Given the description of an element on the screen output the (x, y) to click on. 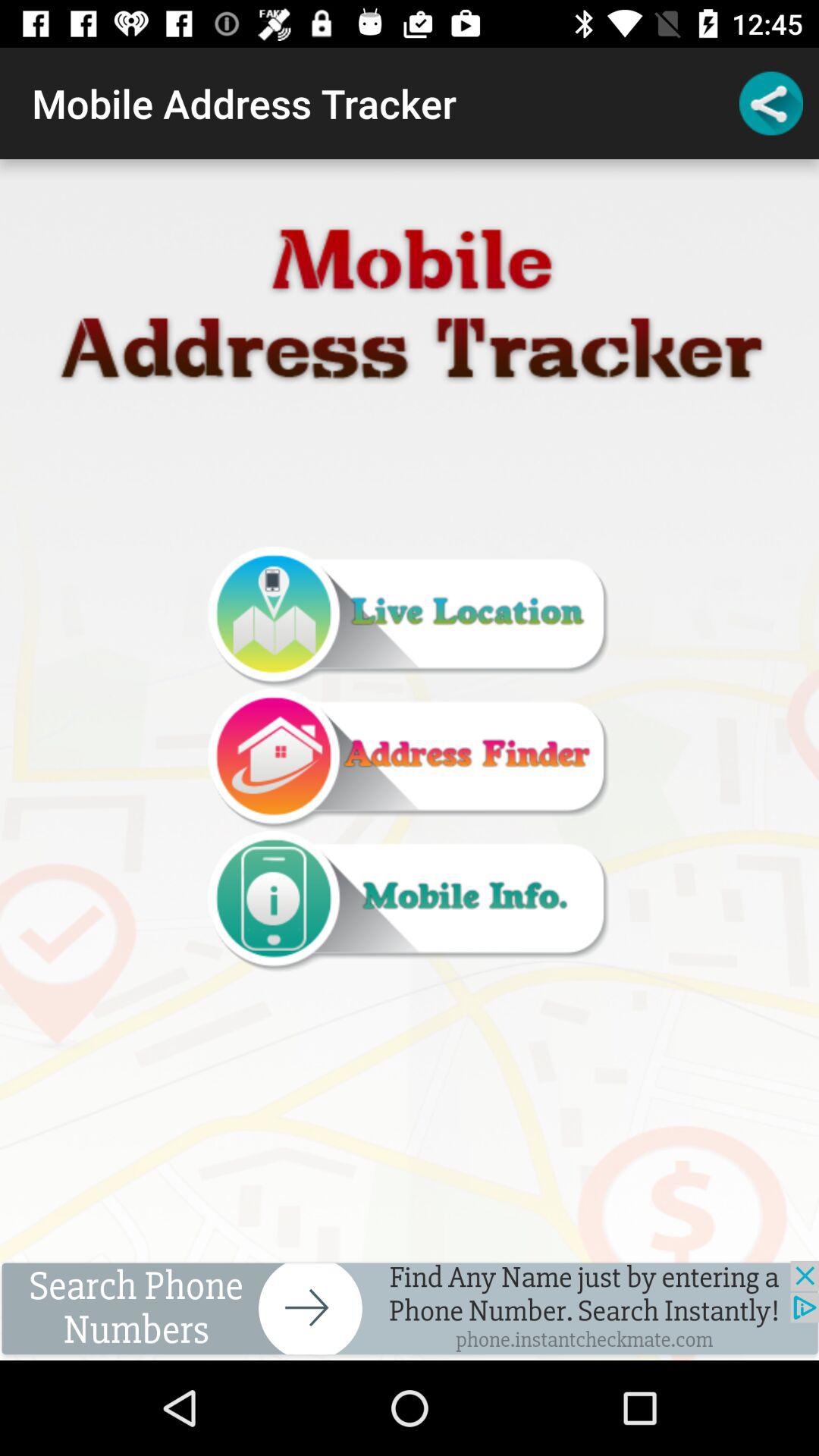
select image (409, 759)
